Given the description of an element on the screen output the (x, y) to click on. 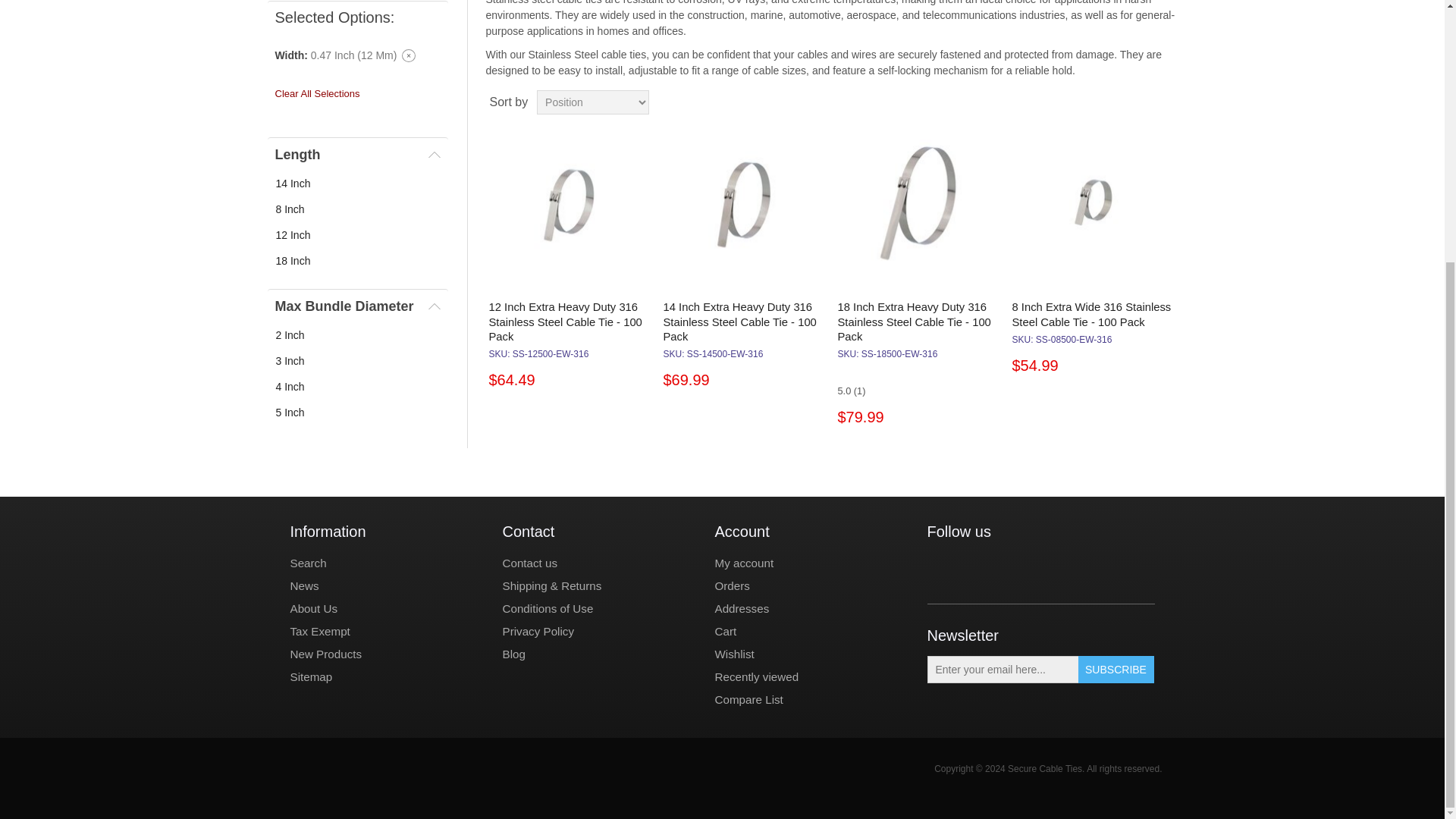
Subscribe (1116, 669)
